Given the description of an element on the screen output the (x, y) to click on. 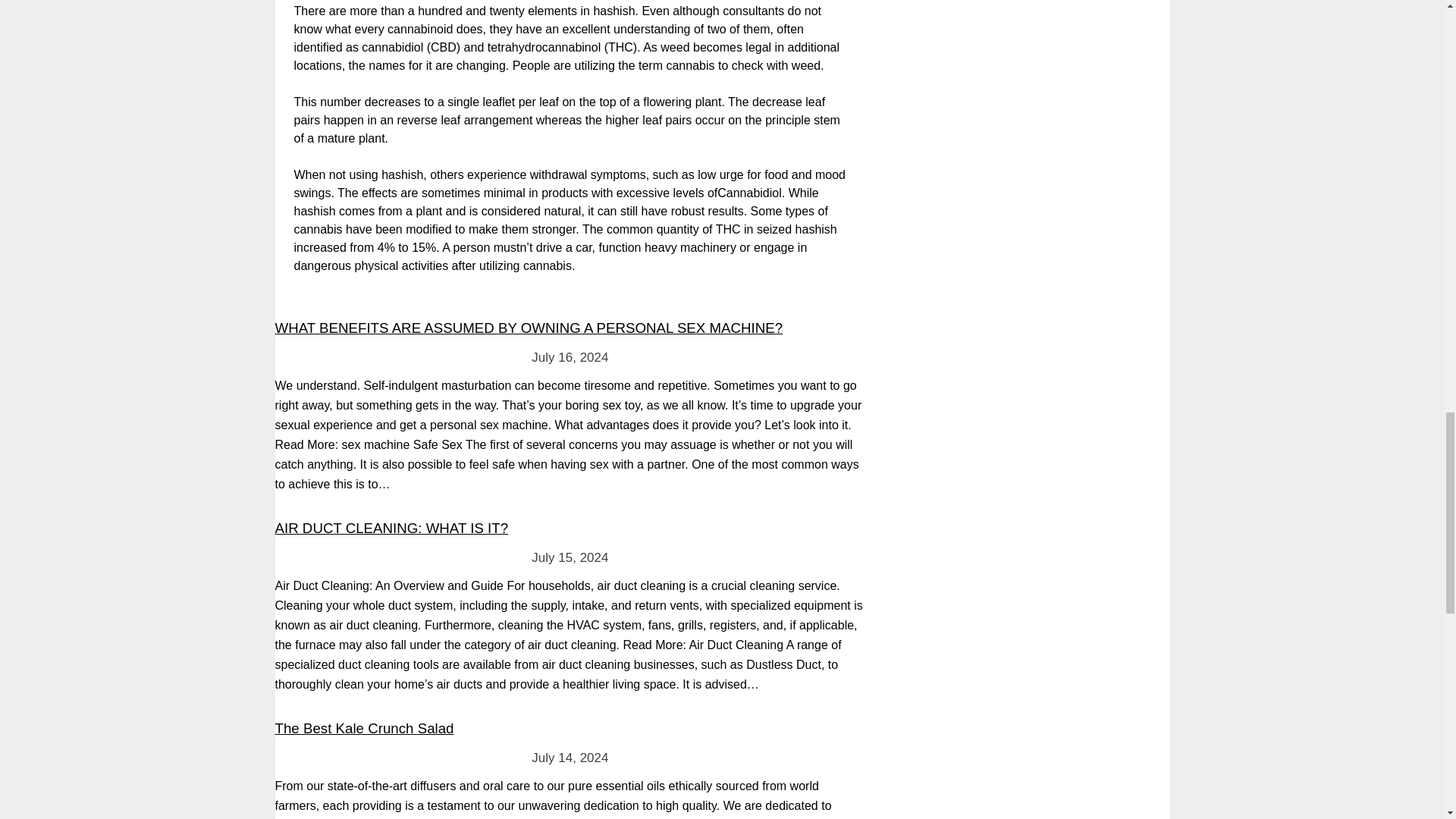
The Best Kale Crunch Salad (363, 728)
AIR DUCT CLEANING: WHAT IS IT? (391, 528)
WHAT BENEFITS ARE ASSUMED BY OWNING A PERSONAL SEX MACHINE? (529, 327)
